Given the description of an element on the screen output the (x, y) to click on. 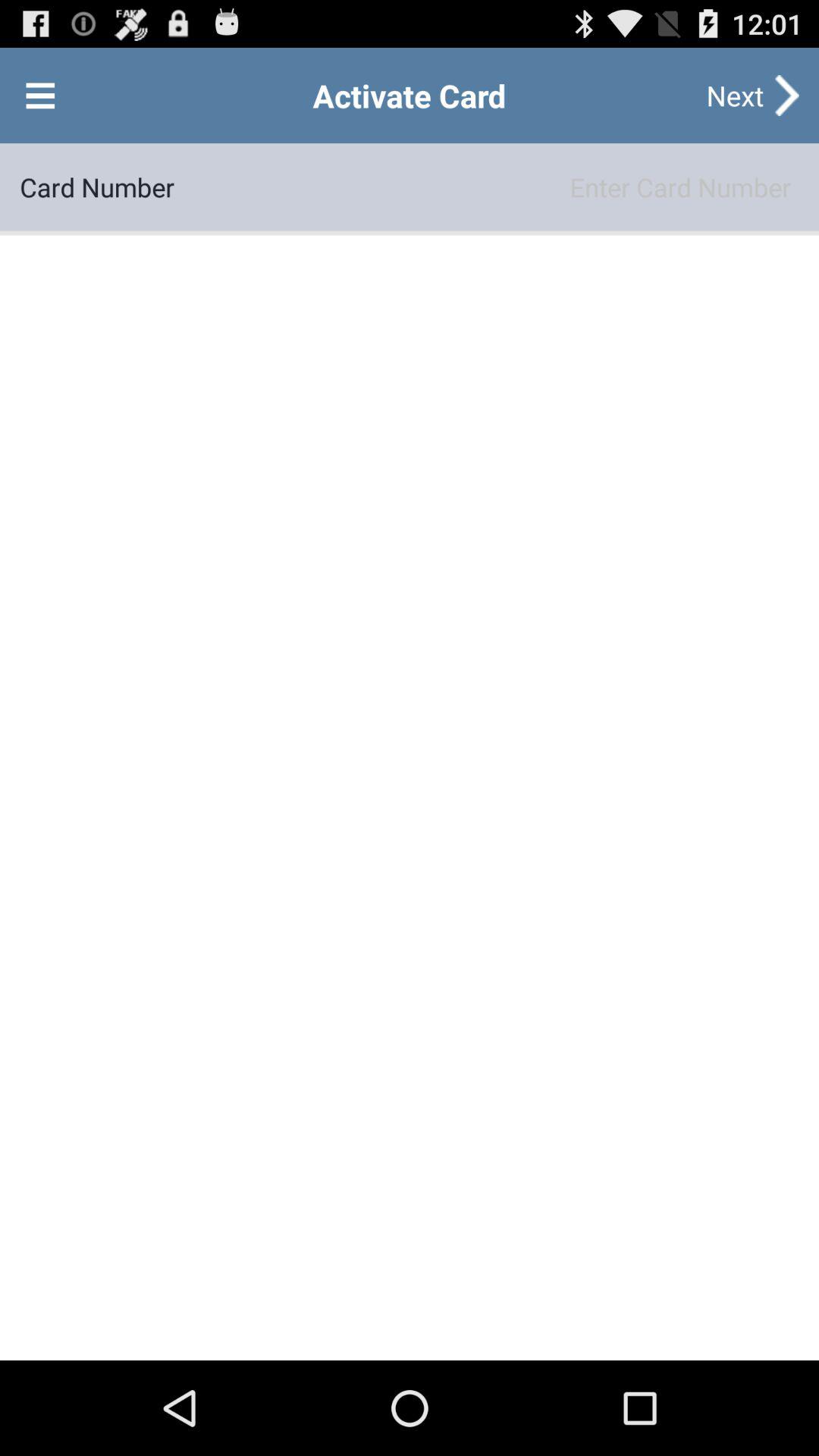
click icon at the top right corner (735, 95)
